Given the description of an element on the screen output the (x, y) to click on. 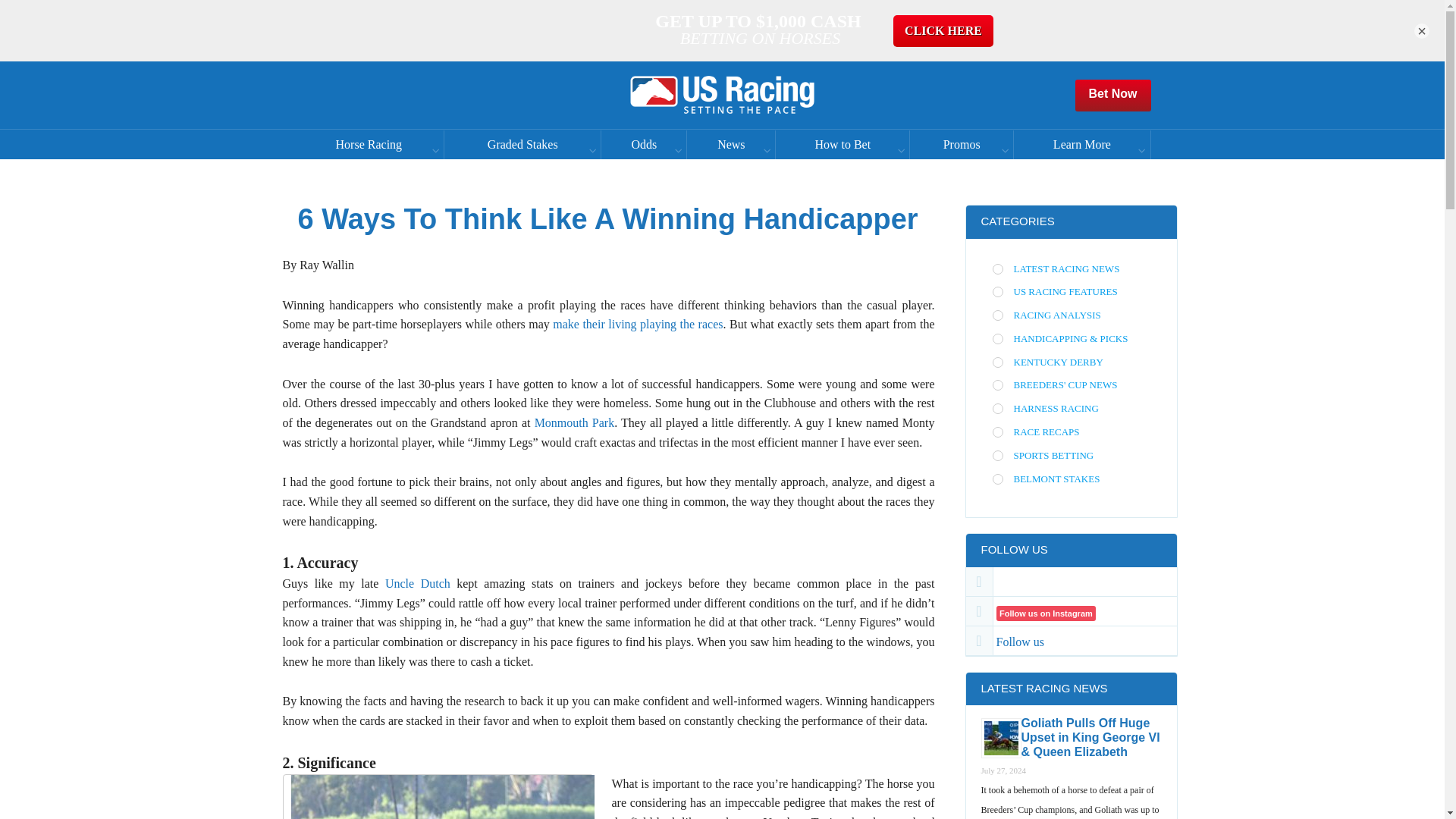
How to Bet (842, 144)
Monmouth Park (574, 422)
Horse Racing (369, 144)
Learn More (1081, 144)
News recap (1041, 431)
Twitter Follow Button (1084, 579)
Graded Stakes (521, 144)
Posts related to analysis (1052, 315)
News (730, 144)
Odds (643, 144)
make their living playing the races (637, 323)
Promos (961, 144)
Bet Now (1113, 94)
